Given the description of an element on the screen output the (x, y) to click on. 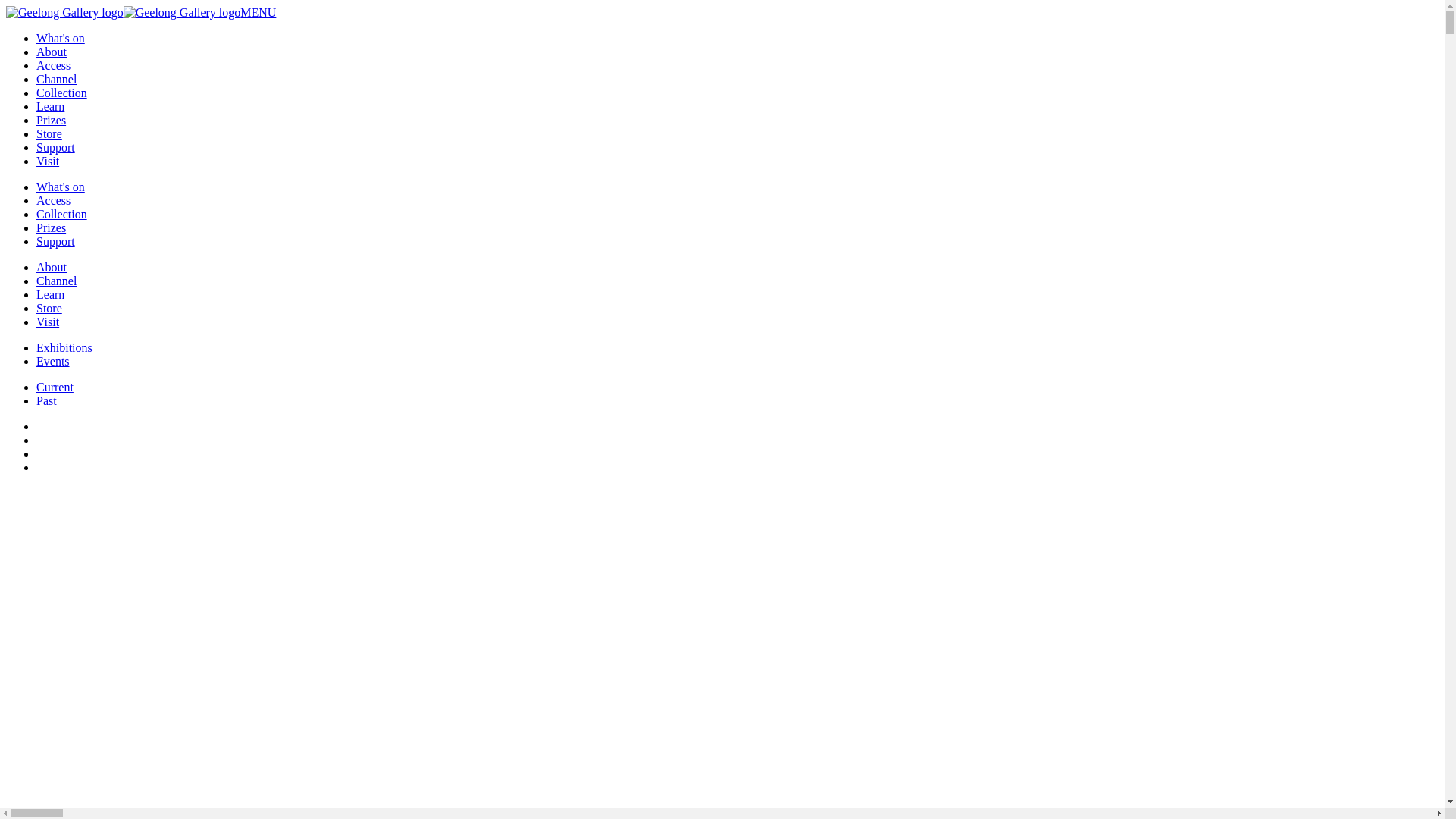
Prizes Element type: text (50, 119)
Past Element type: text (46, 400)
Store Element type: text (49, 133)
About Element type: text (51, 266)
Prizes Element type: text (50, 227)
Learn Element type: text (50, 294)
About Element type: text (51, 51)
Current Element type: text (54, 386)
MENU Element type: text (258, 12)
Channel Element type: text (56, 78)
Events Element type: text (52, 360)
Collection Element type: text (61, 213)
Support Element type: text (55, 147)
Exhibitions Element type: text (64, 347)
What's on Element type: text (60, 186)
Store Element type: text (49, 307)
Support Element type: text (55, 241)
Access Element type: text (53, 65)
Visit Element type: text (47, 160)
Channel Element type: text (56, 280)
Collection Element type: text (61, 92)
Access Element type: text (53, 200)
What's on Element type: text (60, 37)
Learn Element type: text (50, 106)
Visit Element type: text (47, 321)
